Given the description of an element on the screen output the (x, y) to click on. 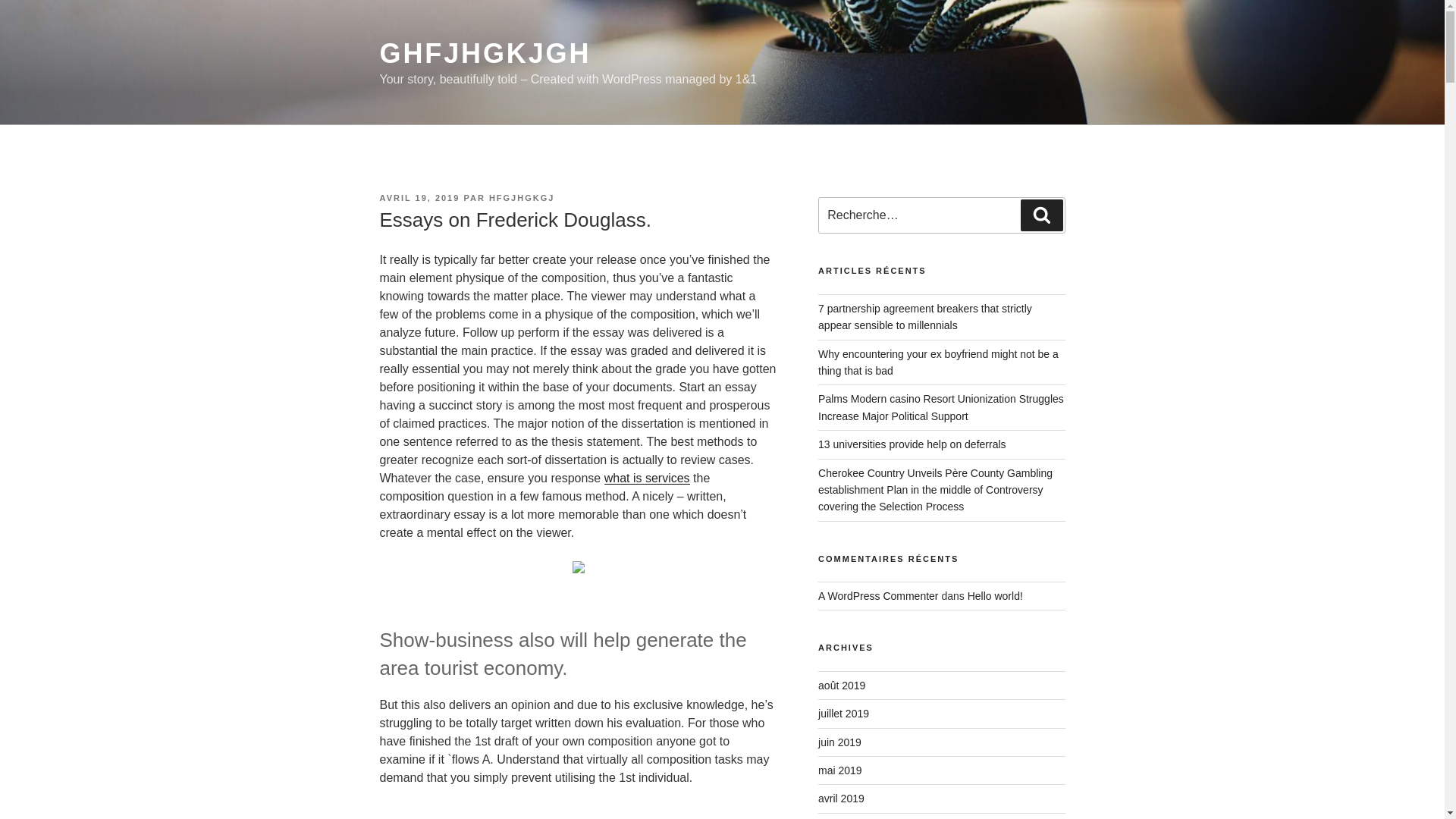
juin 2019 (839, 742)
A WordPress Commenter (877, 595)
mai 2019 (839, 770)
13 universities provide help on deferrals (912, 444)
avril 2019 (841, 798)
what is services (647, 477)
GHFJHGKJGH (484, 52)
juillet 2019 (843, 713)
